Given the description of an element on the screen output the (x, y) to click on. 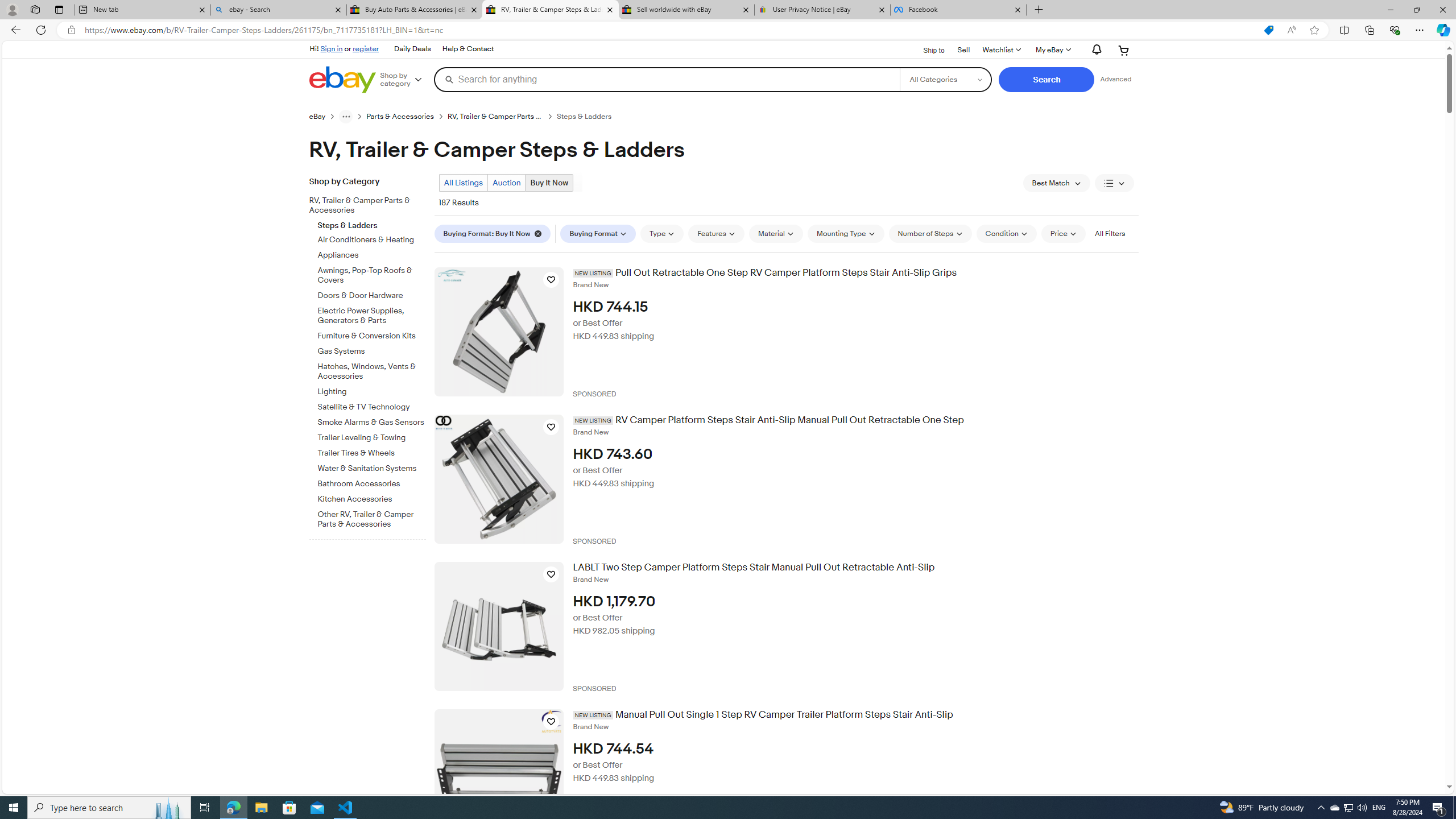
Buying Format (598, 233)
Select a category for search (945, 78)
Appliances (371, 253)
Sort: Best Match (1056, 182)
Appliances (371, 255)
Gas Systems (371, 351)
eBay Home (341, 79)
Furniture & Conversion Kits (371, 335)
Help & Contact (467, 49)
